Given the description of an element on the screen output the (x, y) to click on. 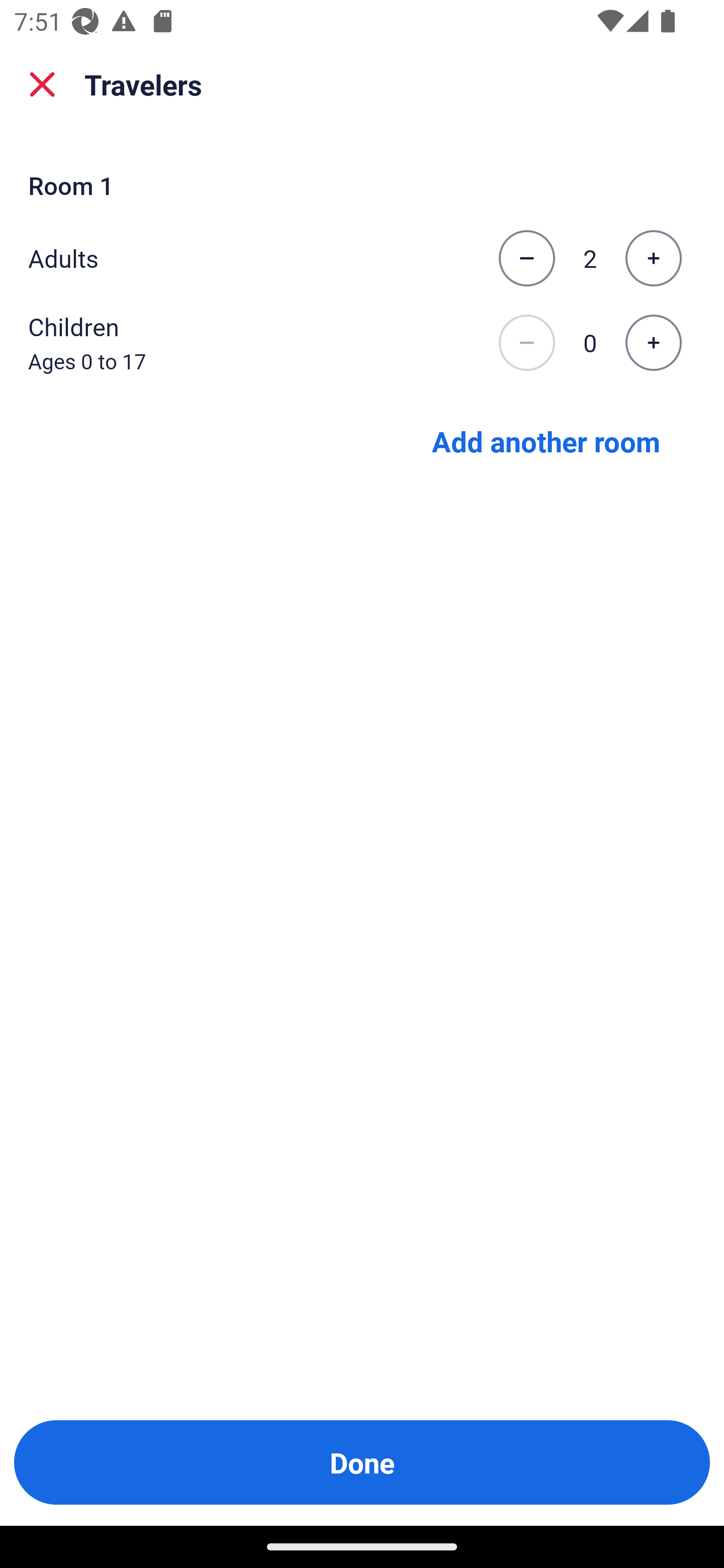
close (42, 84)
Decrease the number of adults (526, 258)
Increase the number of adults (653, 258)
Decrease the number of children (526, 343)
Increase the number of children (653, 343)
Add another room (545, 440)
Done (361, 1462)
